Given the description of an element on the screen output the (x, y) to click on. 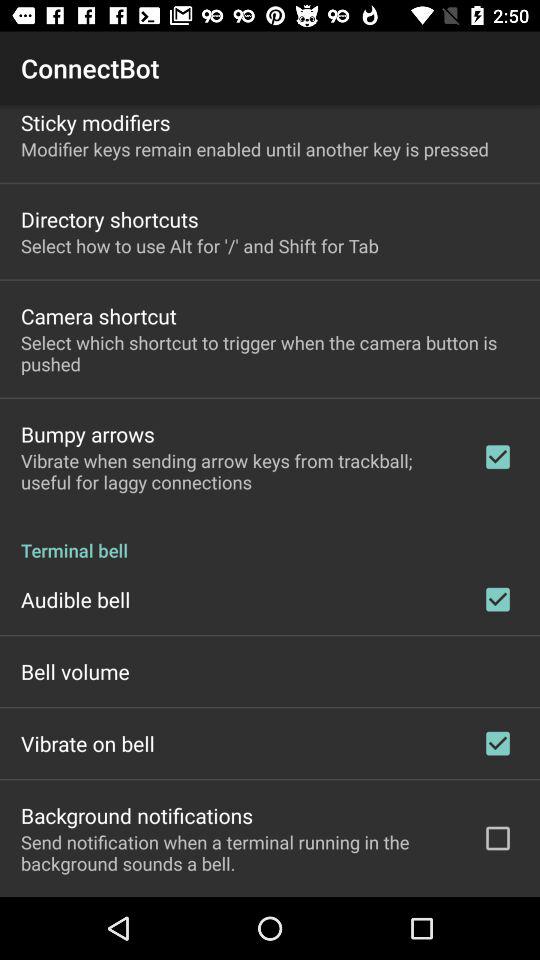
turn on the app above the background notifications app (87, 743)
